Given the description of an element on the screen output the (x, y) to click on. 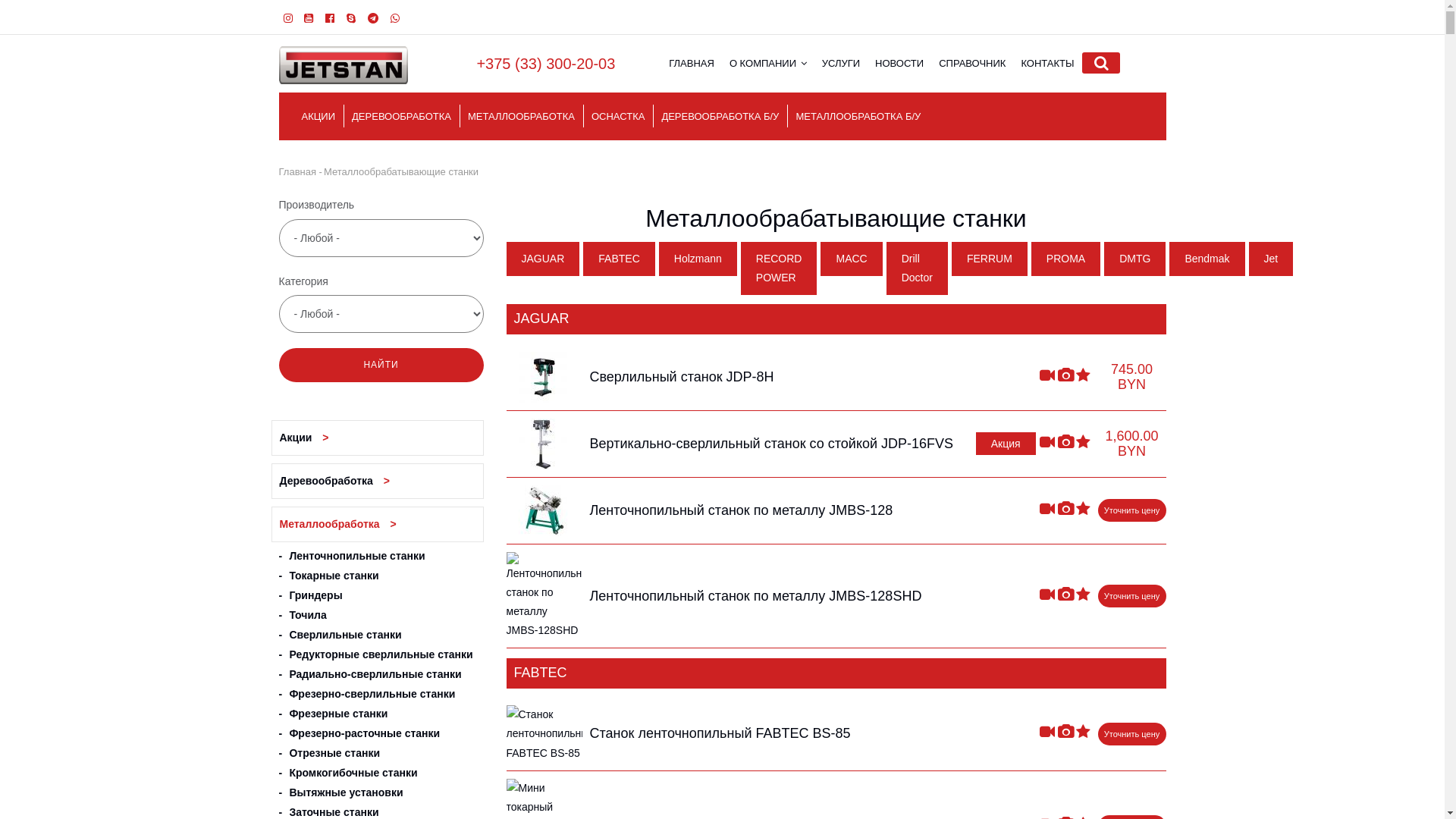
JAGUAR Element type: text (543, 258)
FABTEC Element type: text (618, 258)
Holzmann Element type: text (697, 258)
Telegram Element type: hover (372, 18)
RECORD POWER Element type: text (778, 267)
Drill Doctor Element type: text (916, 267)
Jet Element type: text (1270, 258)
DMTG Element type: text (1134, 258)
FERRUM Element type: text (989, 258)
Bendmak Element type: text (1206, 258)
+375 (33) 300-20-03 Element type: text (545, 63)
MACC Element type: text (850, 258)
PROMA Element type: text (1065, 258)
